Given the description of an element on the screen output the (x, y) to click on. 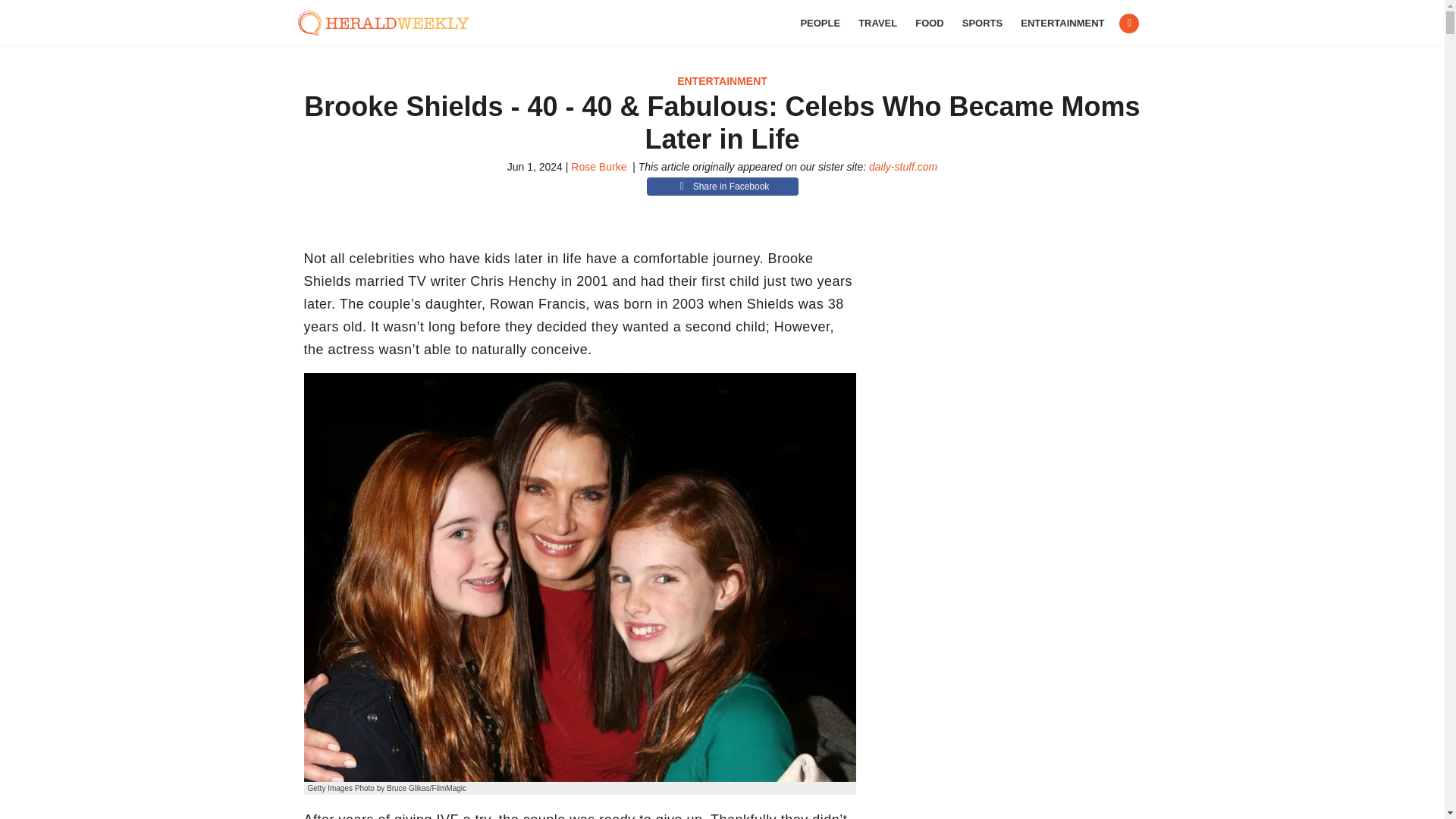
Rose Burke (598, 166)
Facebook (1128, 23)
PEOPLE (819, 23)
ENTERTAINMENT (1061, 23)
TRAVEL (877, 23)
daily-stuff.com (903, 166)
Herald Weekly (391, 22)
SPORTS (982, 23)
Share in Facebook (721, 186)
ENTERTAINMENT (722, 80)
